Given the description of an element on the screen output the (x, y) to click on. 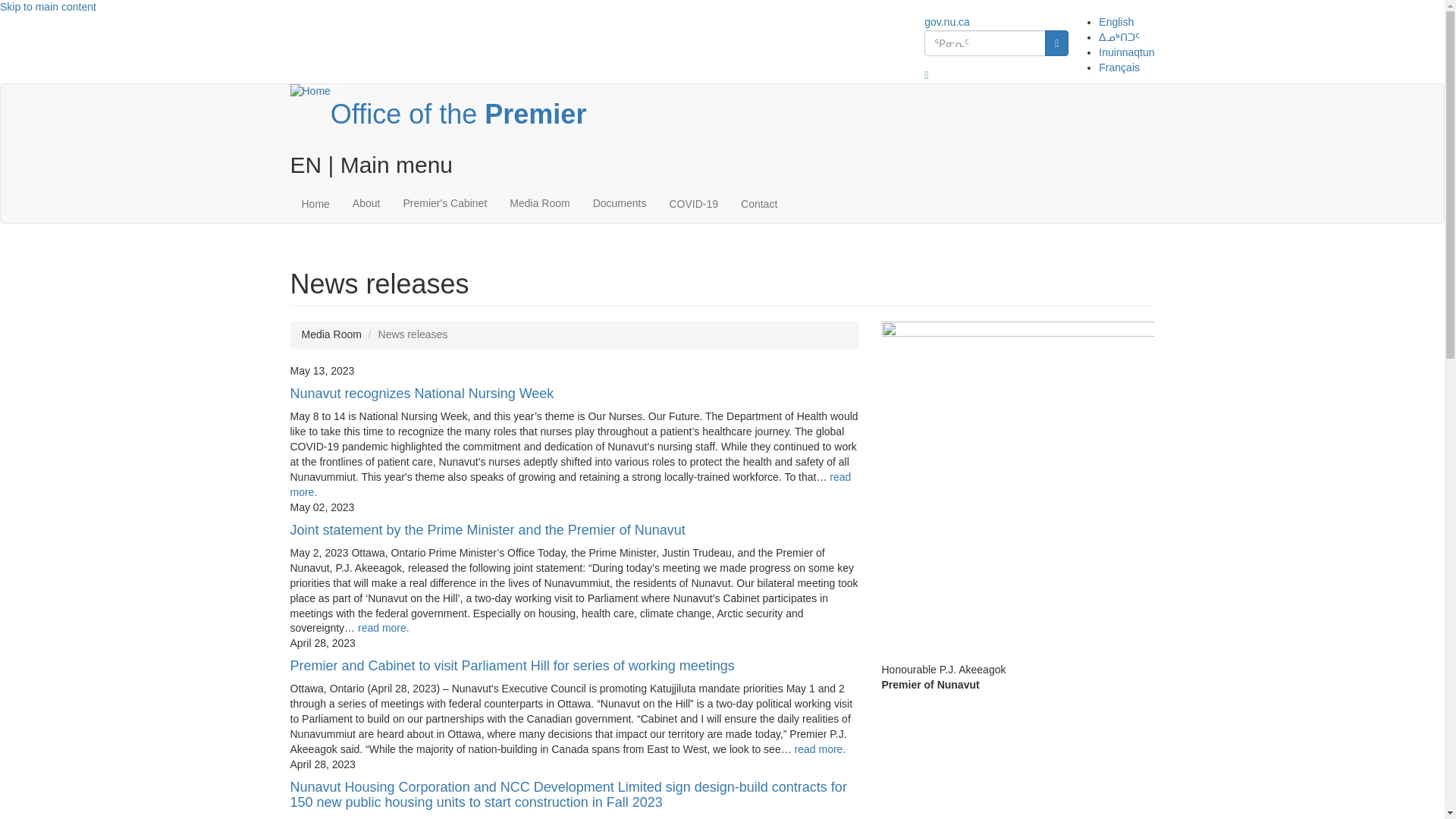
Skip to main content (48, 6)
COVID-19 (693, 203)
Premier's Cabinet (444, 203)
Documents (619, 203)
Home (721, 114)
COVID-19 (693, 203)
Enter the terms you wish to search for. (984, 43)
Contact (759, 203)
gov.nu.ca (946, 21)
Inuinnaqtun (1126, 51)
